Given the description of an element on the screen output the (x, y) to click on. 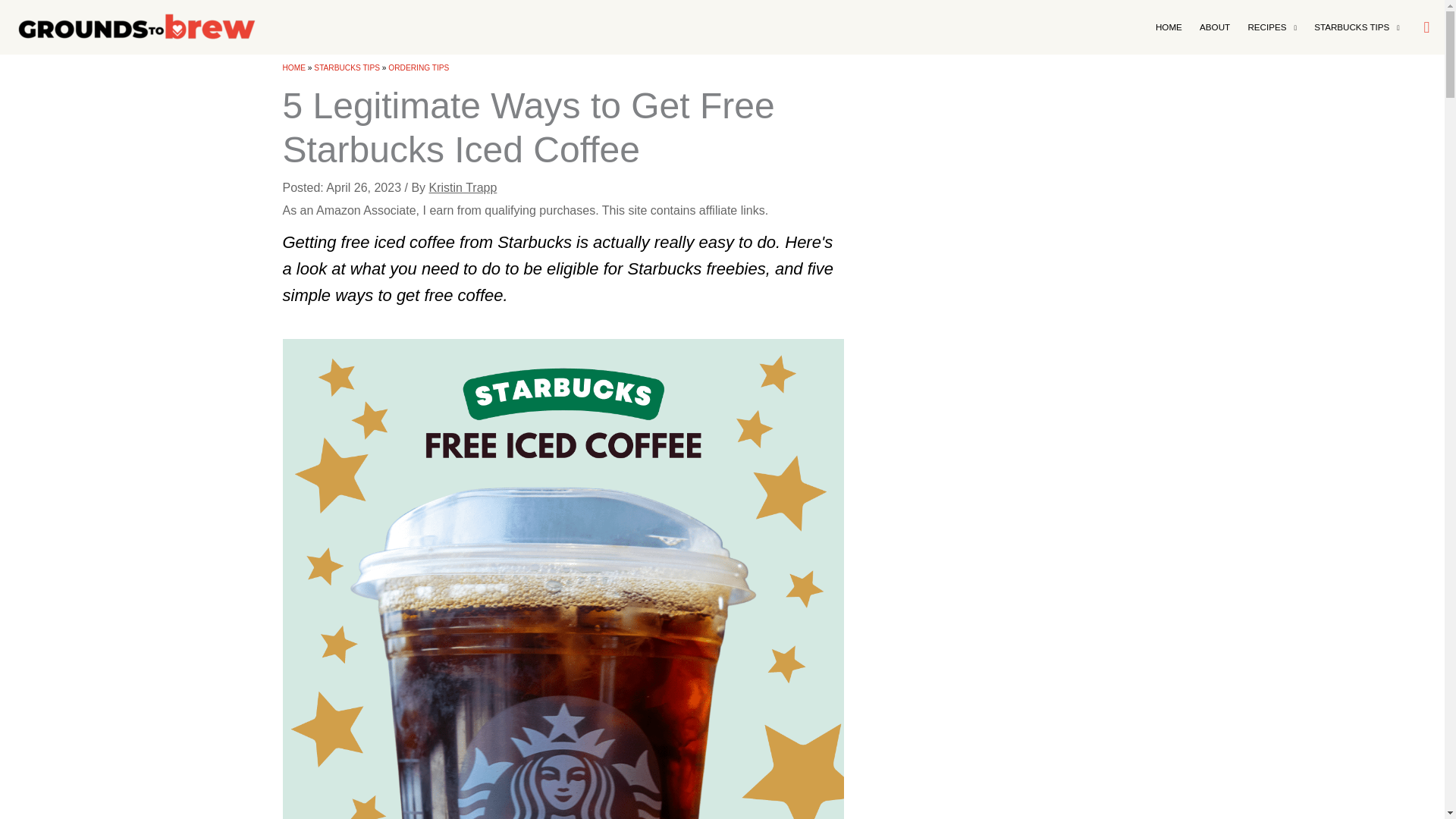
ABOUT (1215, 27)
View all posts by Kristin Trapp (463, 187)
RECIPES (1272, 27)
HOME (1169, 27)
STARBUCKS TIPS (1357, 27)
